Given the description of an element on the screen output the (x, y) to click on. 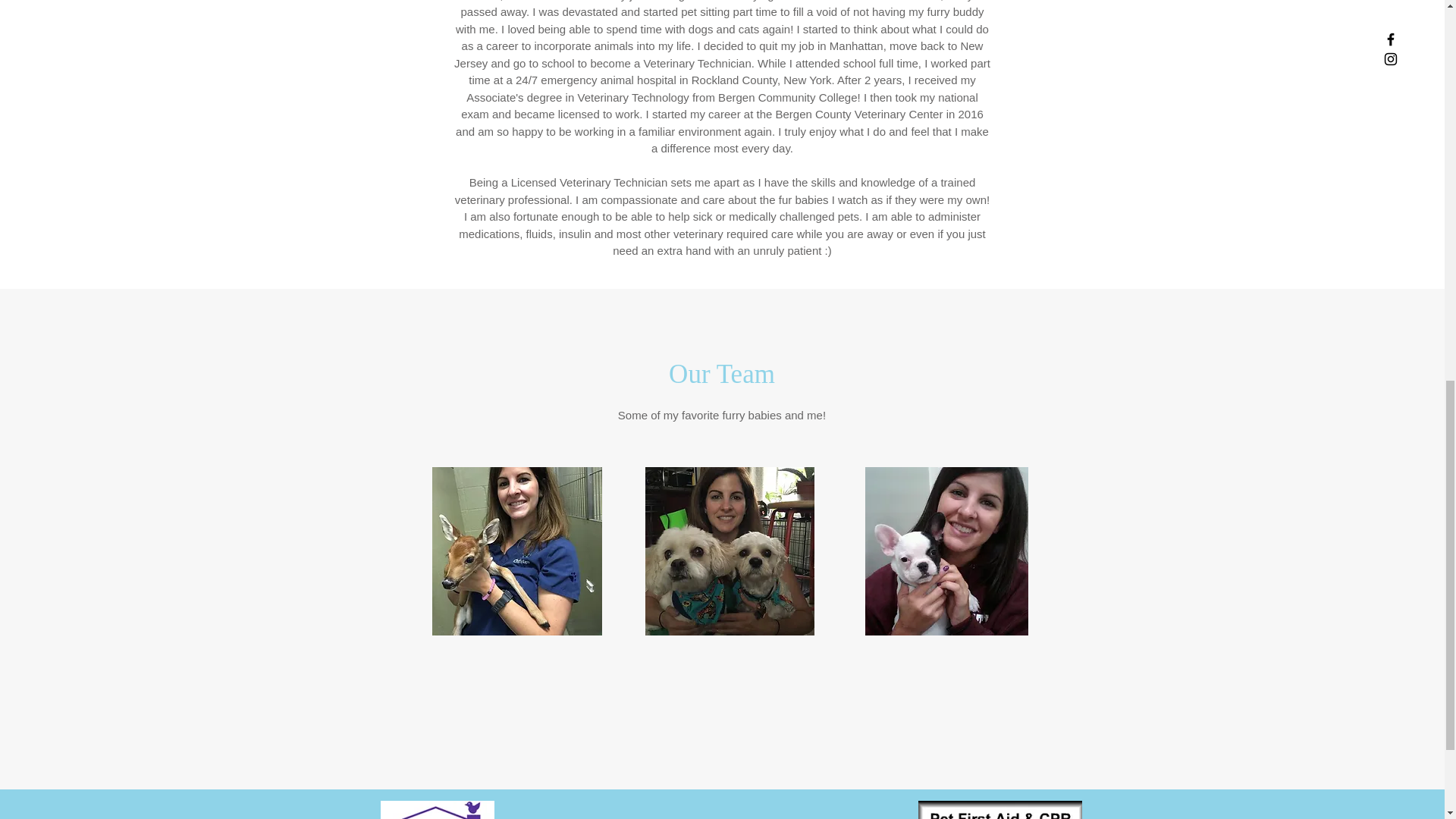
Untitled (945, 550)
Untitled (517, 550)
Untitled (729, 550)
